Given the description of an element on the screen output the (x, y) to click on. 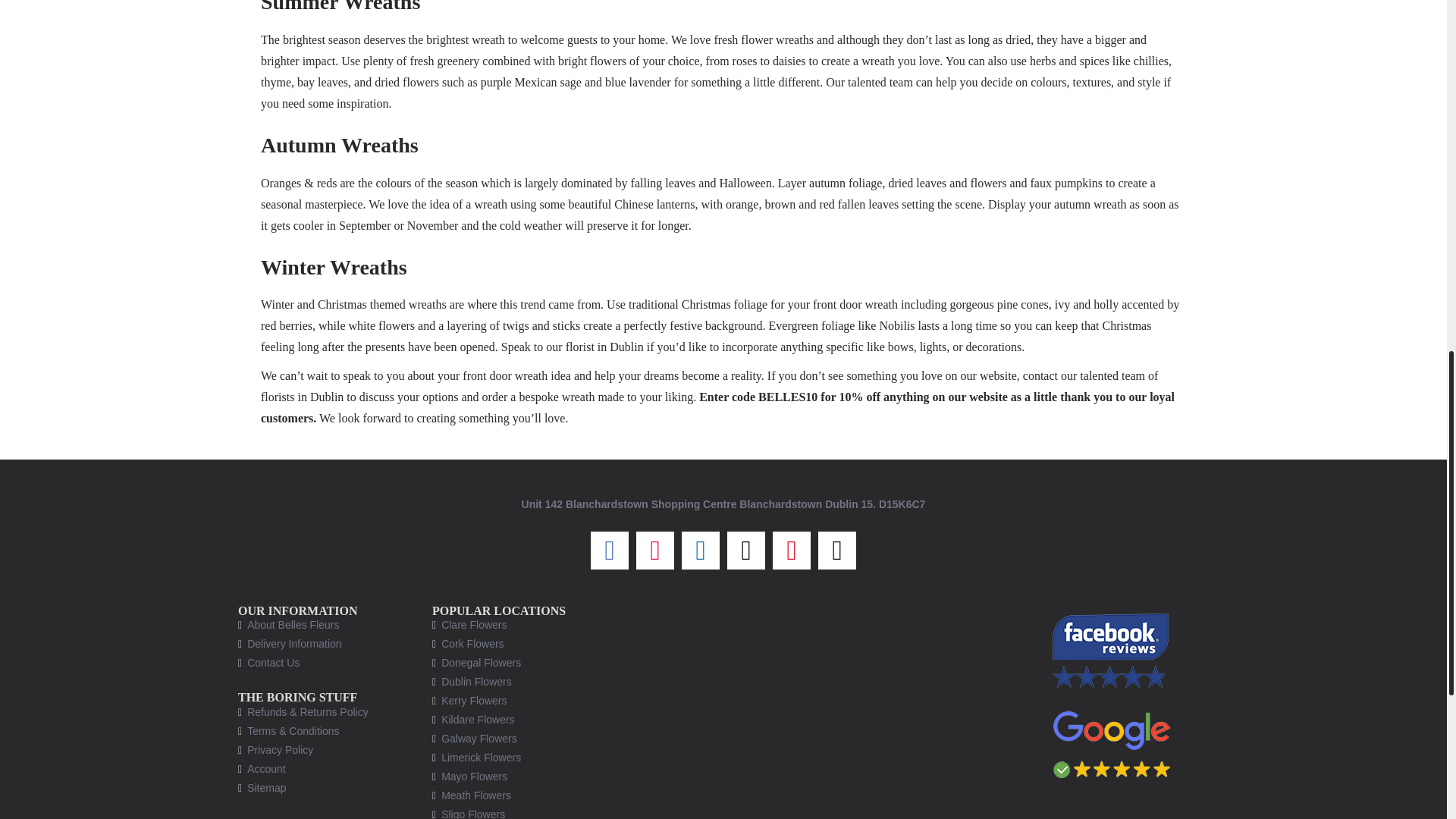
Find Belles Fleurs On Google (1111, 743)
Find A Local Dublin Florist On A Map (820, 711)
Find Belles Fleurs On Facebook (1111, 649)
